Given the description of an element on the screen output the (x, y) to click on. 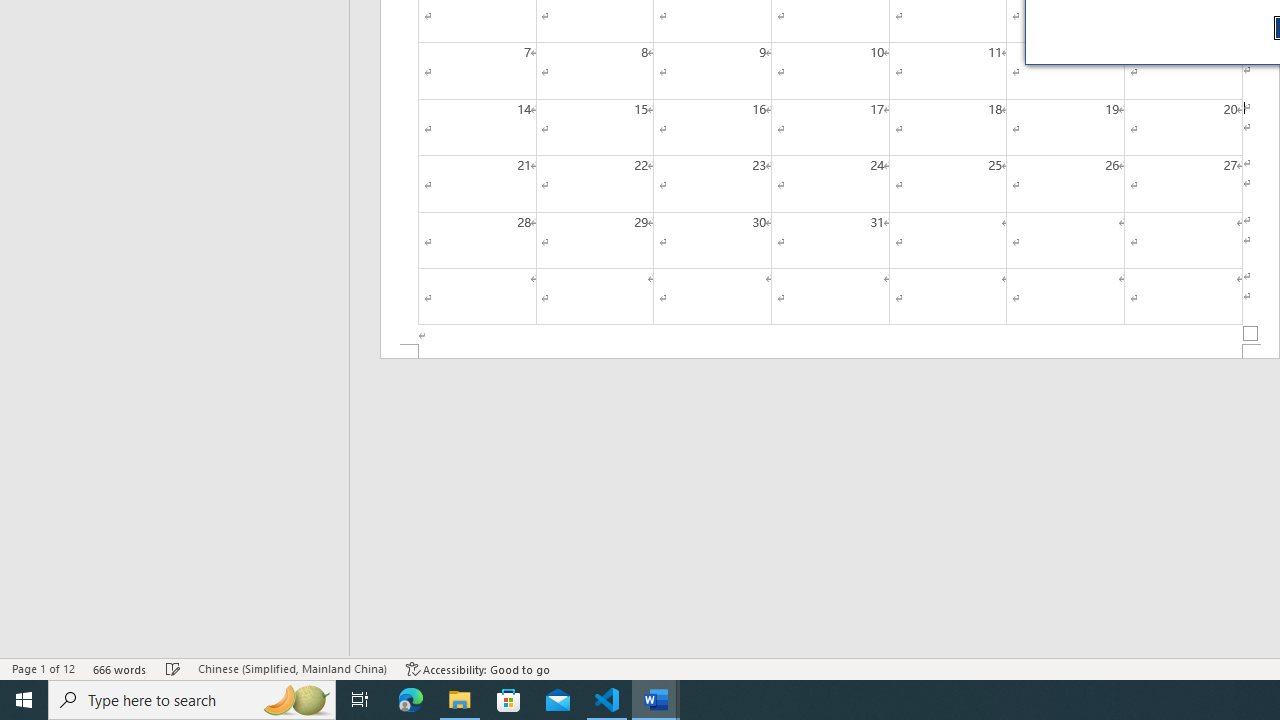
Language Chinese (Simplified, Mainland China) (292, 668)
Search highlights icon opens search home window (295, 699)
